Given the description of an element on the screen output the (x, y) to click on. 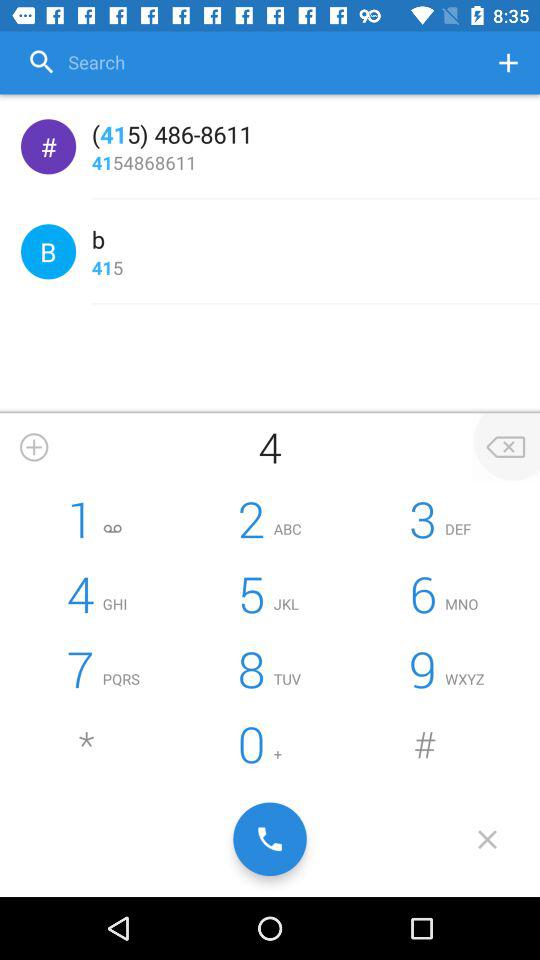
initiate call (269, 839)
